Given the description of an element on the screen output the (x, y) to click on. 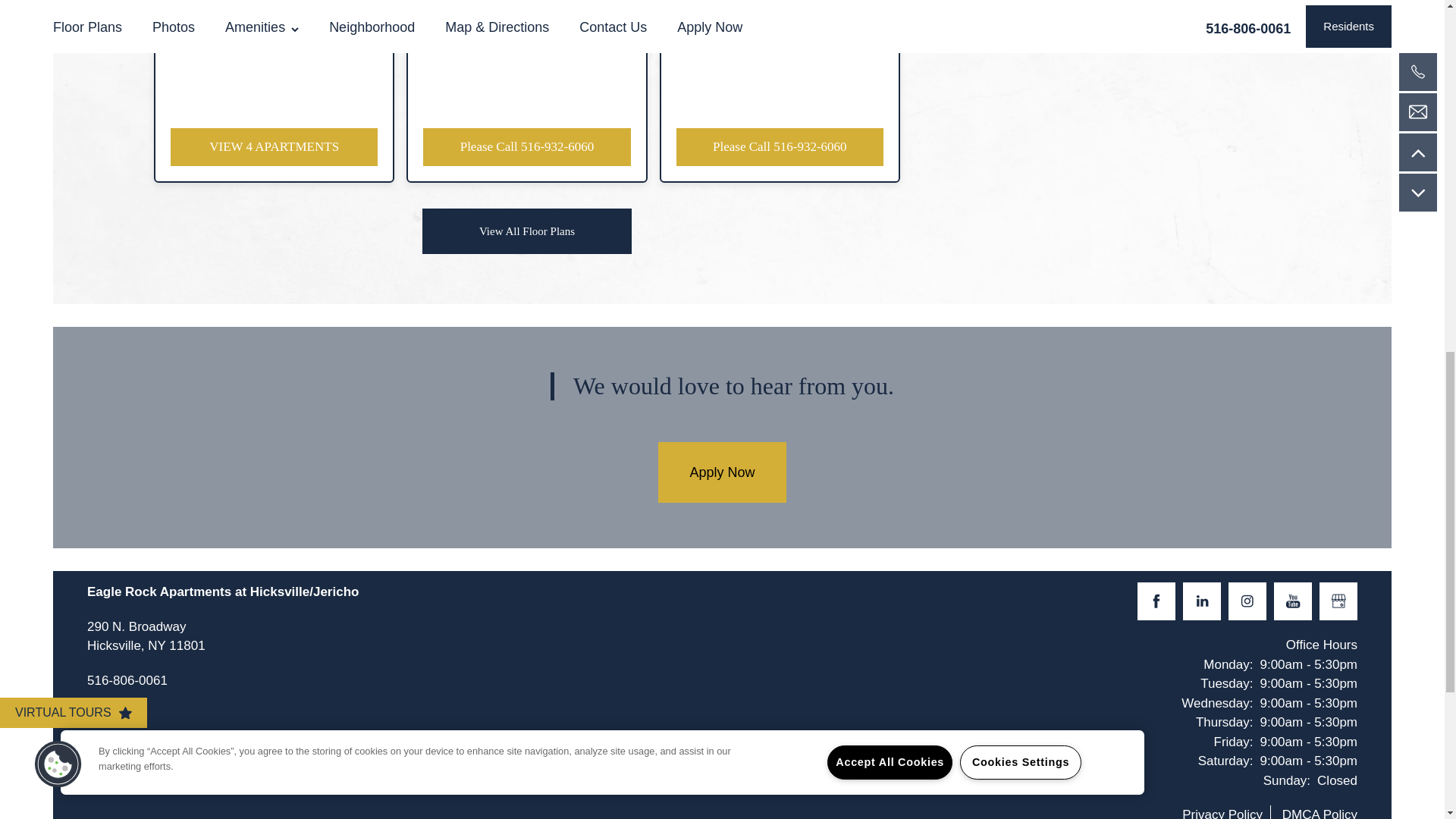
Property Phone Number (127, 682)
VIEW 4 APARTMENTS (273, 146)
Google My Business (1337, 600)
Please Call 516-932-6060 (780, 146)
Facebook (1155, 600)
View All Floor Plans (526, 230)
Please Call 516-932-6060 (526, 146)
Instagram (1247, 600)
LinkedIn (1201, 600)
Apply Now (722, 472)
YouTube (146, 636)
